Given the description of an element on the screen output the (x, y) to click on. 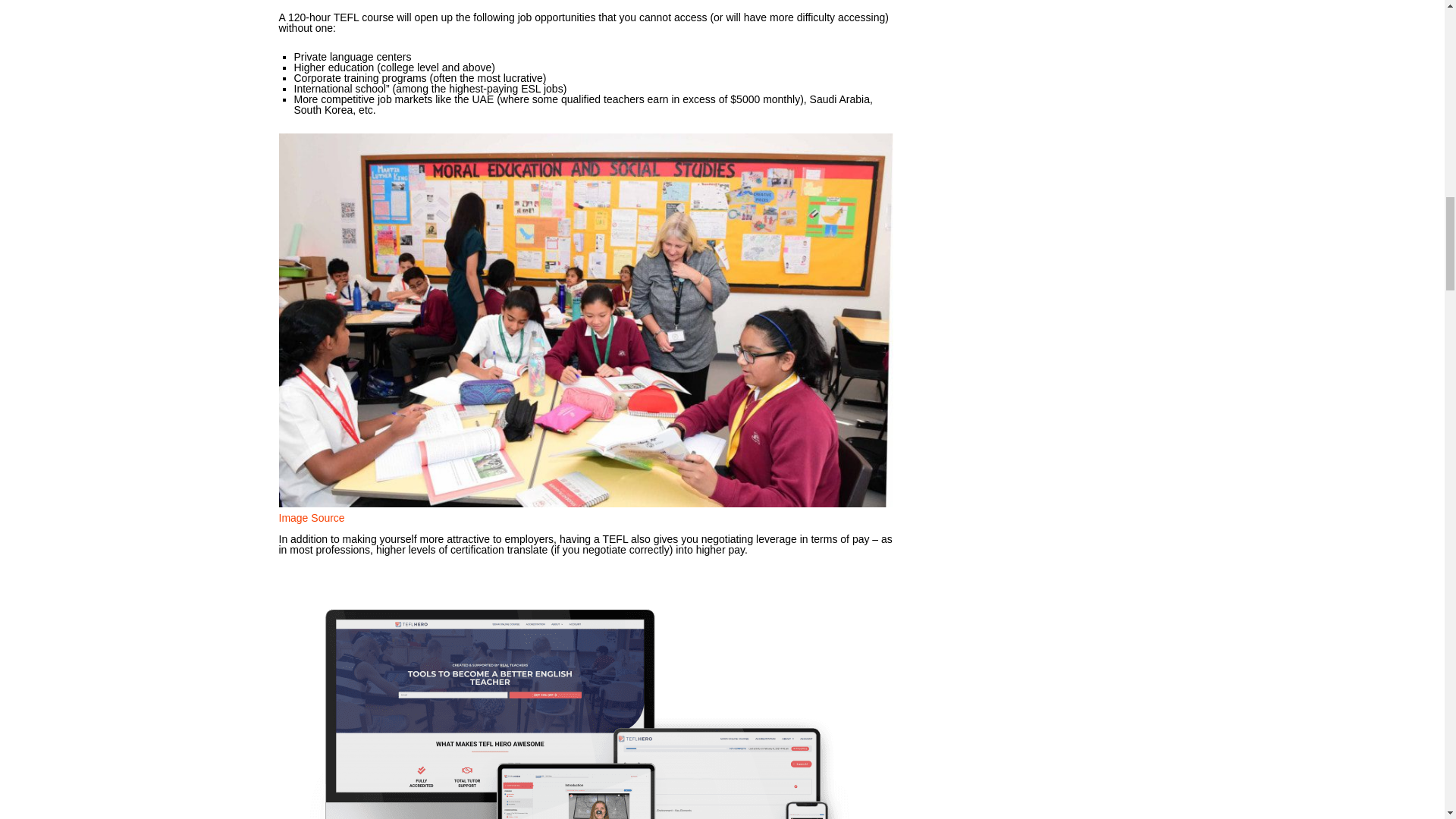
Image Source (312, 517)
